Given the description of an element on the screen output the (x, y) to click on. 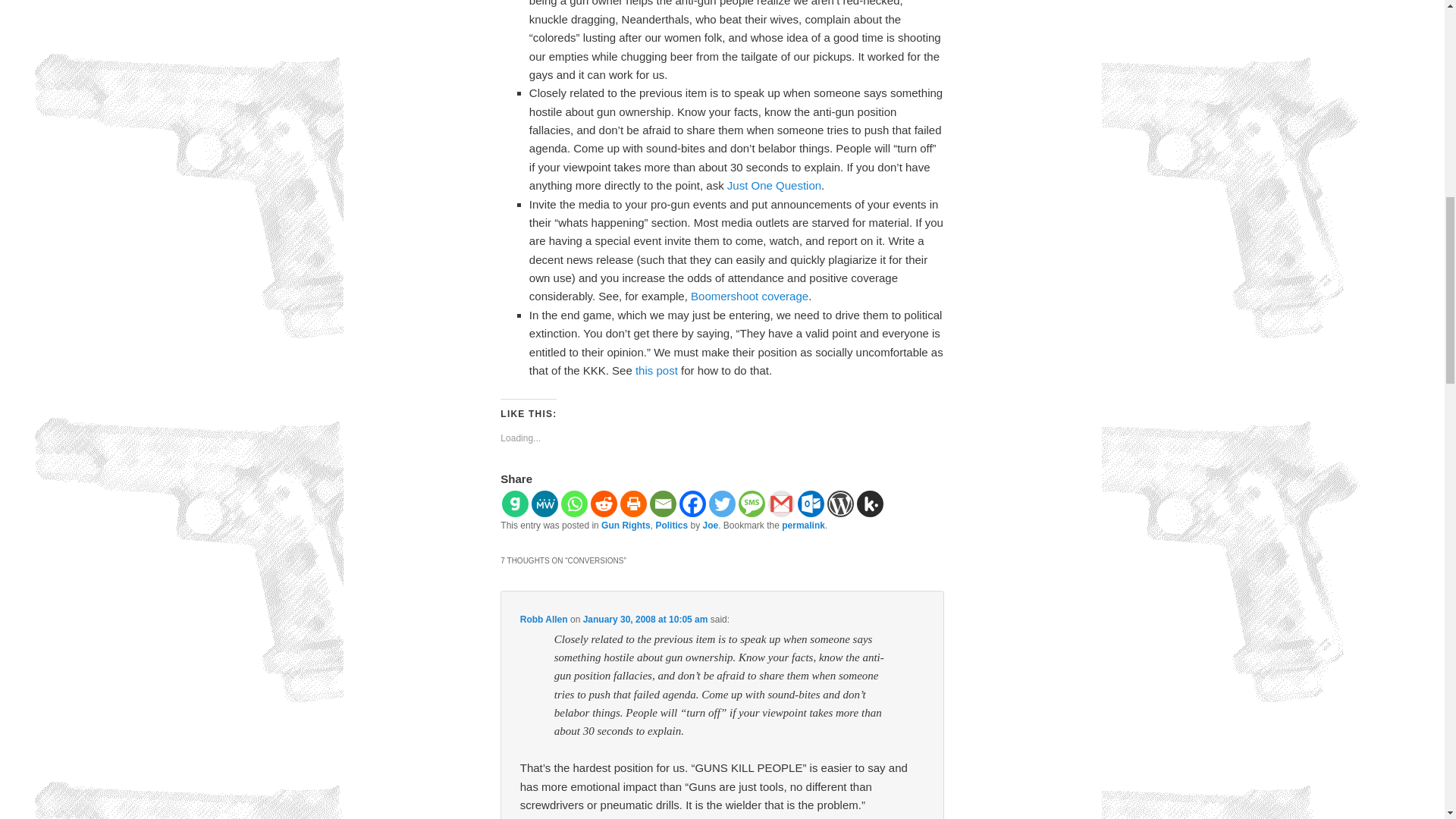
Google Gmail (781, 503)
MeWe (544, 503)
Print (633, 503)
Gab (515, 503)
Twitter (722, 503)
permalink (803, 525)
Email (663, 503)
Outlook.com (810, 503)
Just One Question (773, 185)
Gun Rights (625, 525)
